Given the description of an element on the screen output the (x, y) to click on. 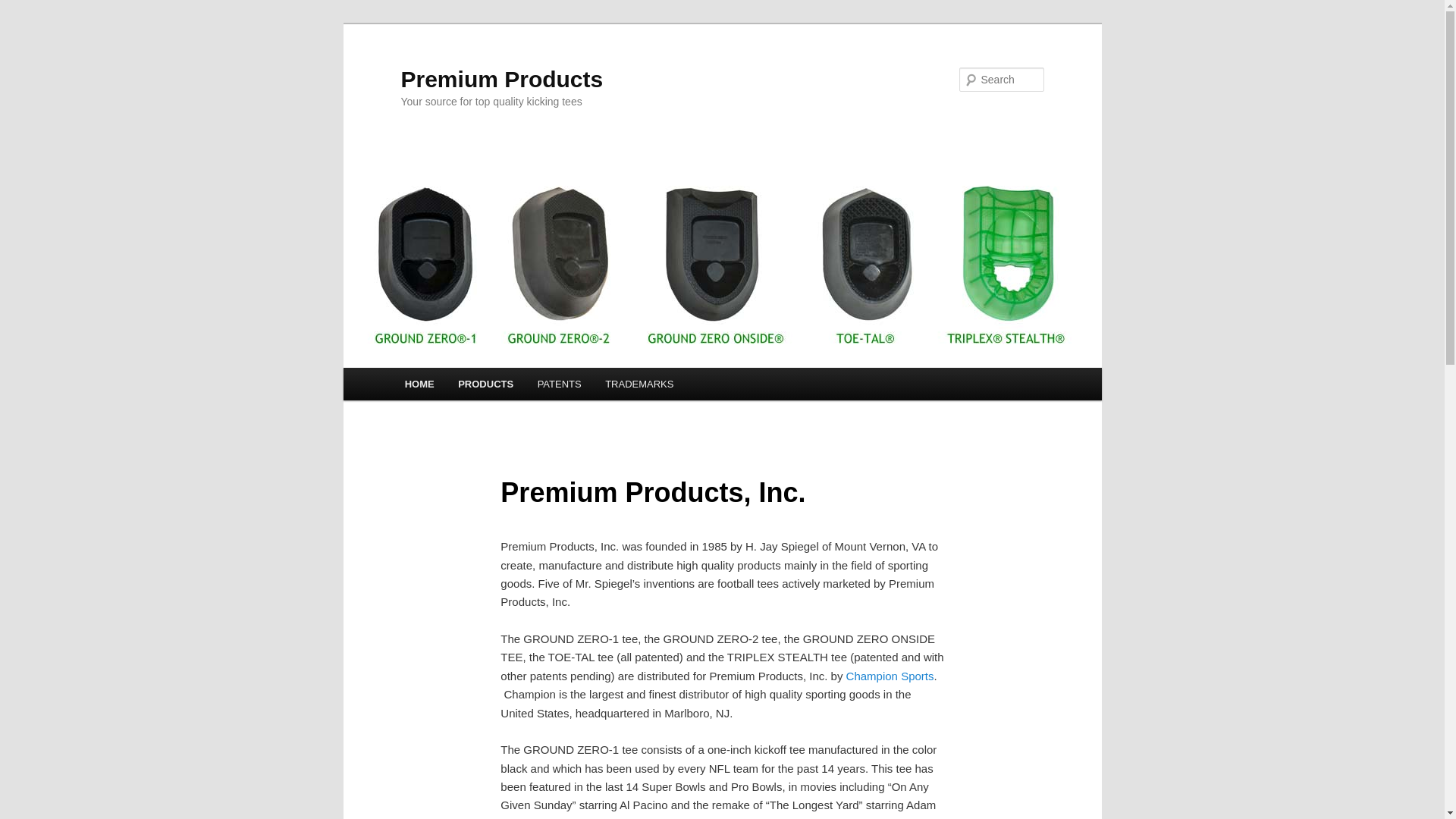
Skip to secondary content Element type: text (479, 386)
TRADEMARKS Element type: text (639, 383)
Premium Products Element type: text (501, 78)
Skip to primary content Element type: text (472, 386)
Search Element type: text (24, 8)
PRODUCTS Element type: text (484, 383)
HOME Element type: text (419, 383)
Champion Sports Element type: text (890, 675)
PATENTS Element type: text (559, 383)
